Given the description of an element on the screen output the (x, y) to click on. 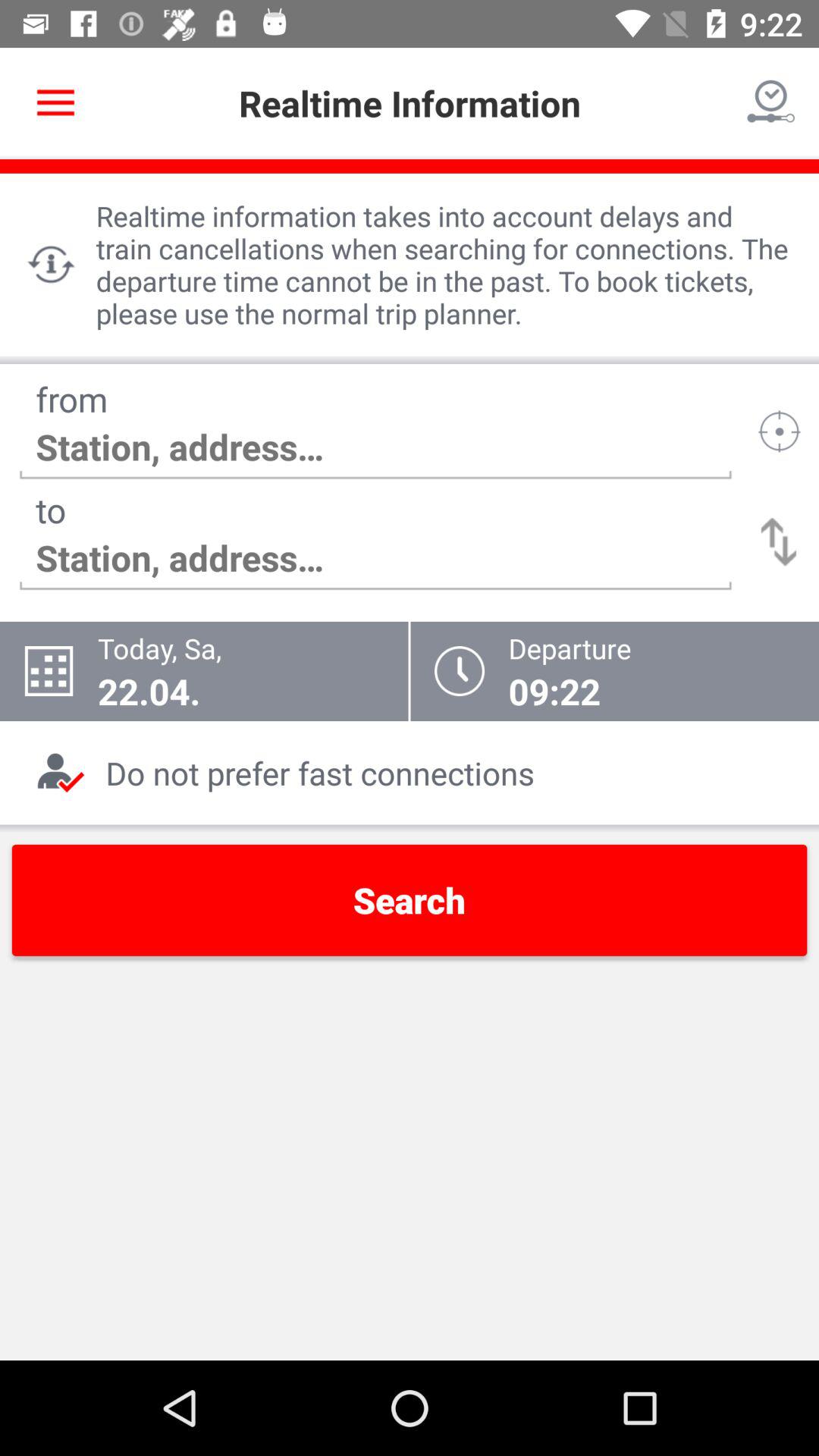
click on the realtime information icon (51, 264)
click on the icon in the bottom left corner (60, 772)
go to field stationaddress below from (375, 447)
